Given the description of an element on the screen output the (x, y) to click on. 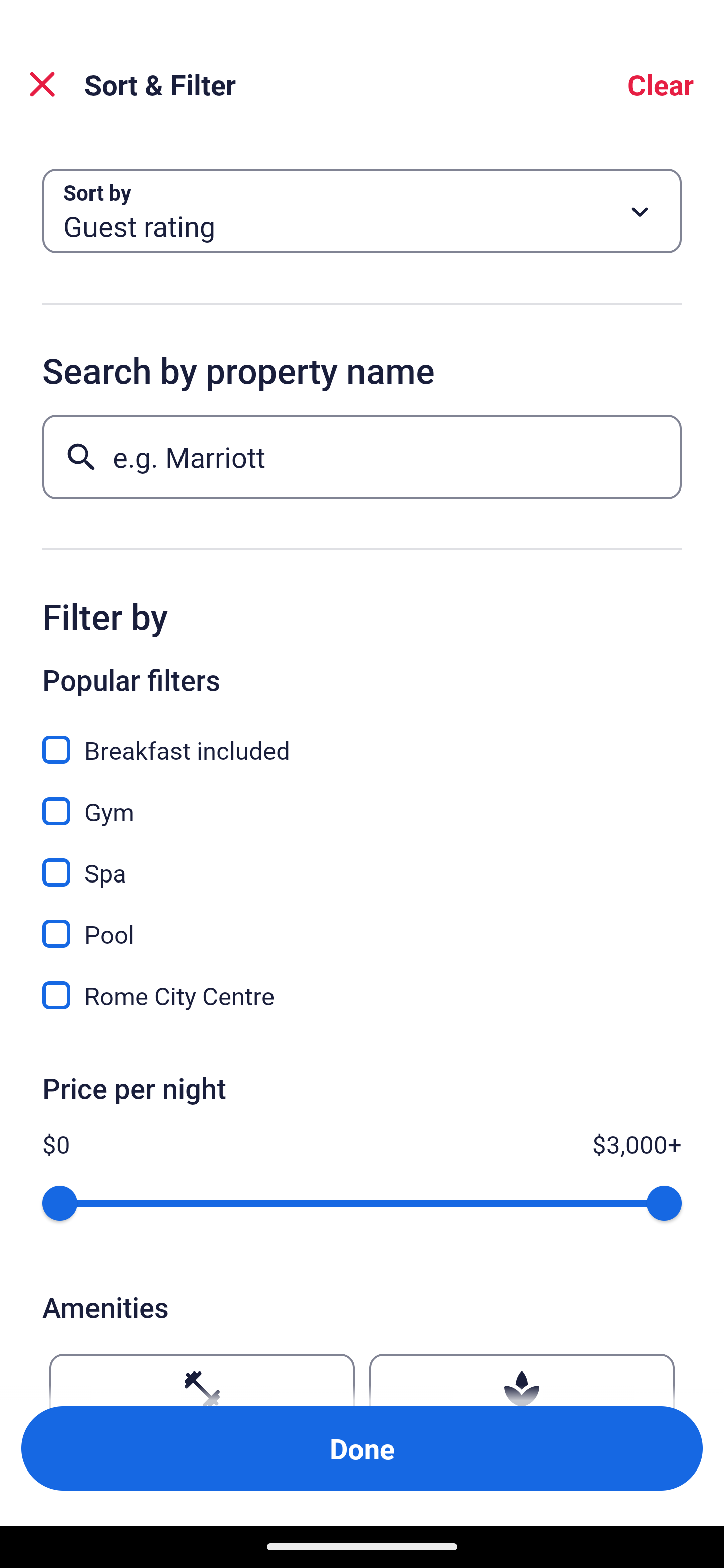
Close Sort and Filter (42, 84)
Clear (660, 84)
Sort by Button Guest rating (361, 211)
e.g. Marriott Button (361, 455)
Breakfast included, Breakfast included (361, 738)
Gym, Gym (361, 800)
Spa, Spa (361, 861)
Pool, Pool (361, 922)
Rome City Centre, Rome City Centre (361, 995)
Apply and close Sort and Filter Done (361, 1448)
